Given the description of an element on the screen output the (x, y) to click on. 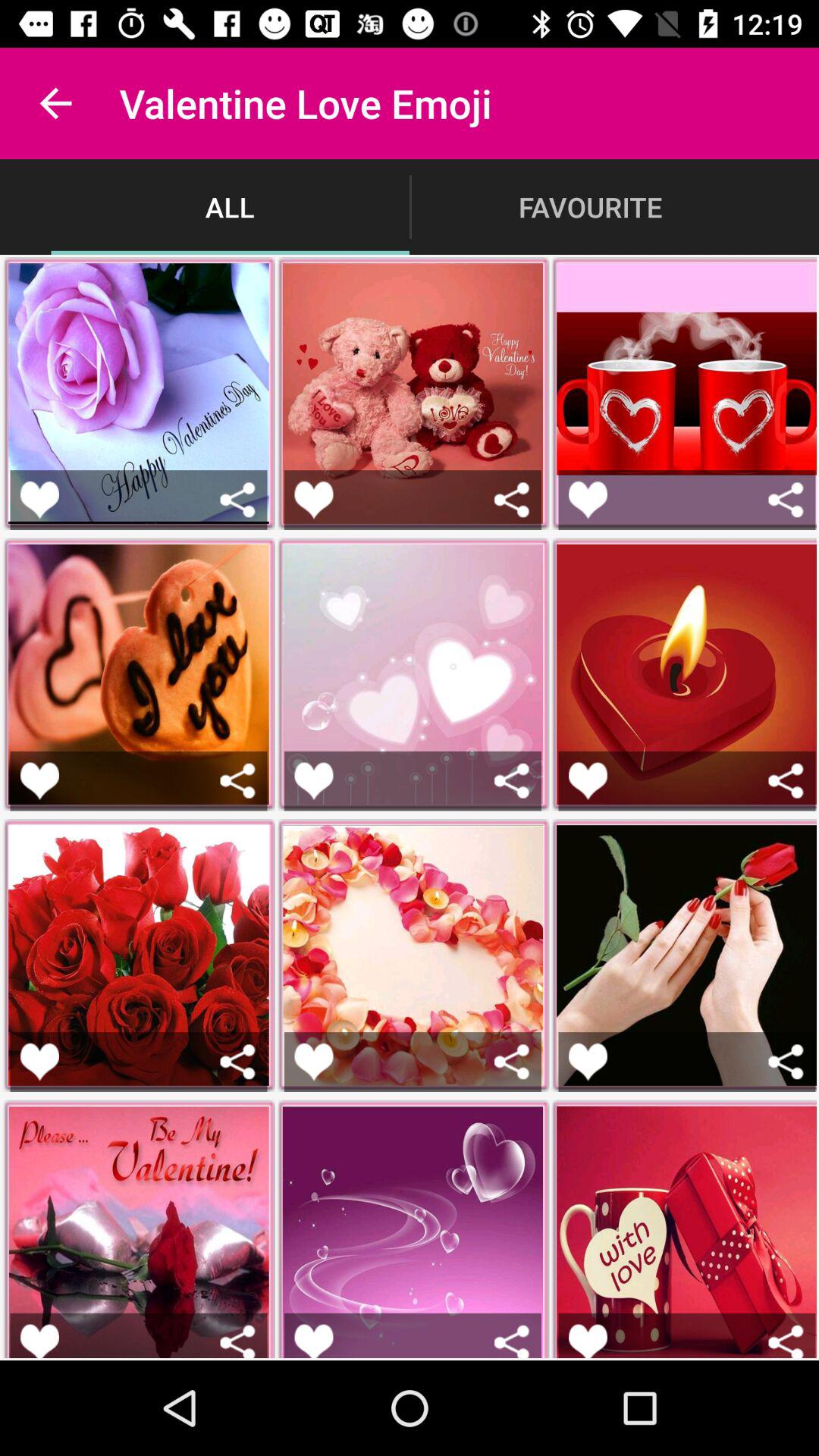
share the sticker (785, 780)
